Given the description of an element on the screen output the (x, y) to click on. 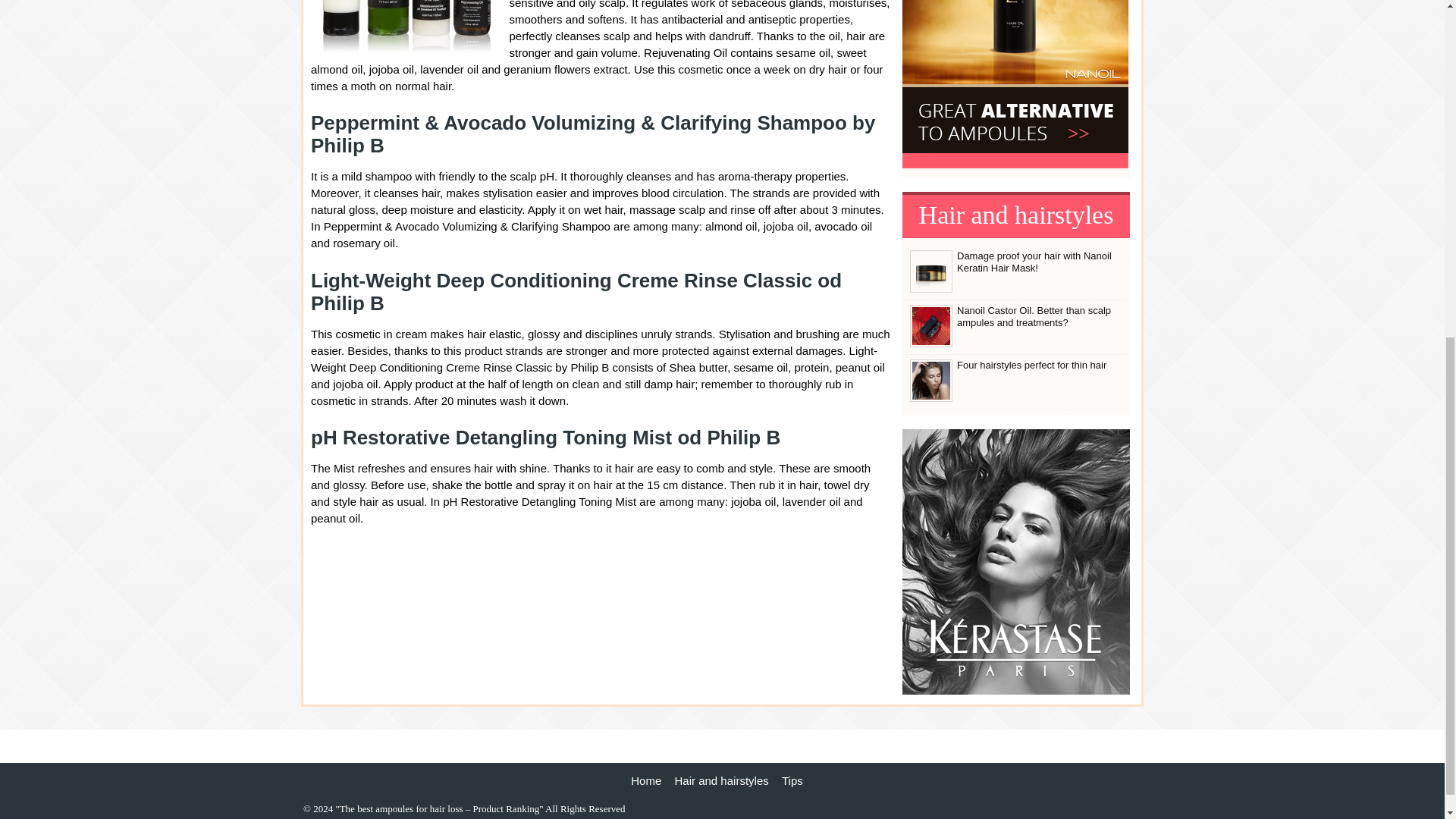
Nanoil Castor Oil. Better than scalp ampules and treatments? (931, 344)
Damage proof your hair with Nanoil Keratin Hair Mask! (1034, 261)
Nanoil Castor Oil. Better than scalp ampules and treatments? (1033, 316)
Home (645, 780)
Damage proof your hair with Nanoil Keratin Hair Mask! (931, 289)
Four hairstyles perfect for thin hair (1031, 365)
Hair and hairstyles (721, 780)
Tips (792, 780)
Four hairstyles perfect for thin hair (1031, 365)
Nanoil Castor Oil. Better than scalp ampules and treatments? (1033, 316)
Four hairstyles perfect for thin hair (931, 398)
Damage proof your hair with Nanoil Keratin Hair Mask! (1034, 261)
